Given the description of an element on the screen output the (x, y) to click on. 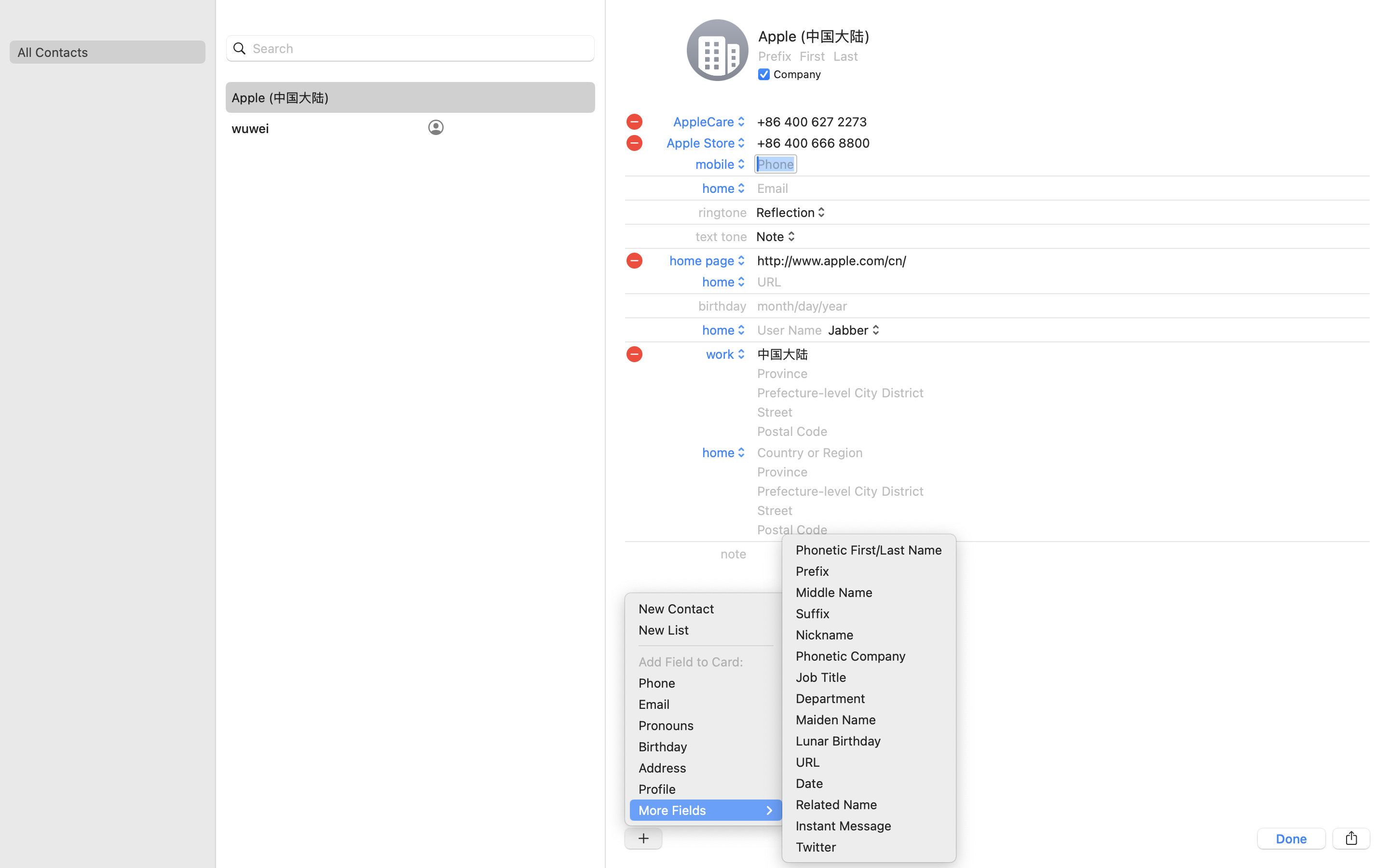
home page Element type: AXStaticText (708, 260)
Jabber Element type: AXStaticText (854, 329)
AppleCare Element type: AXStaticText (710, 121)
‭+86 400 666 8800‬ Element type: AXTextField (813, 142)
text tone Element type: AXStaticText (721, 236)
